Given the description of an element on the screen output the (x, y) to click on. 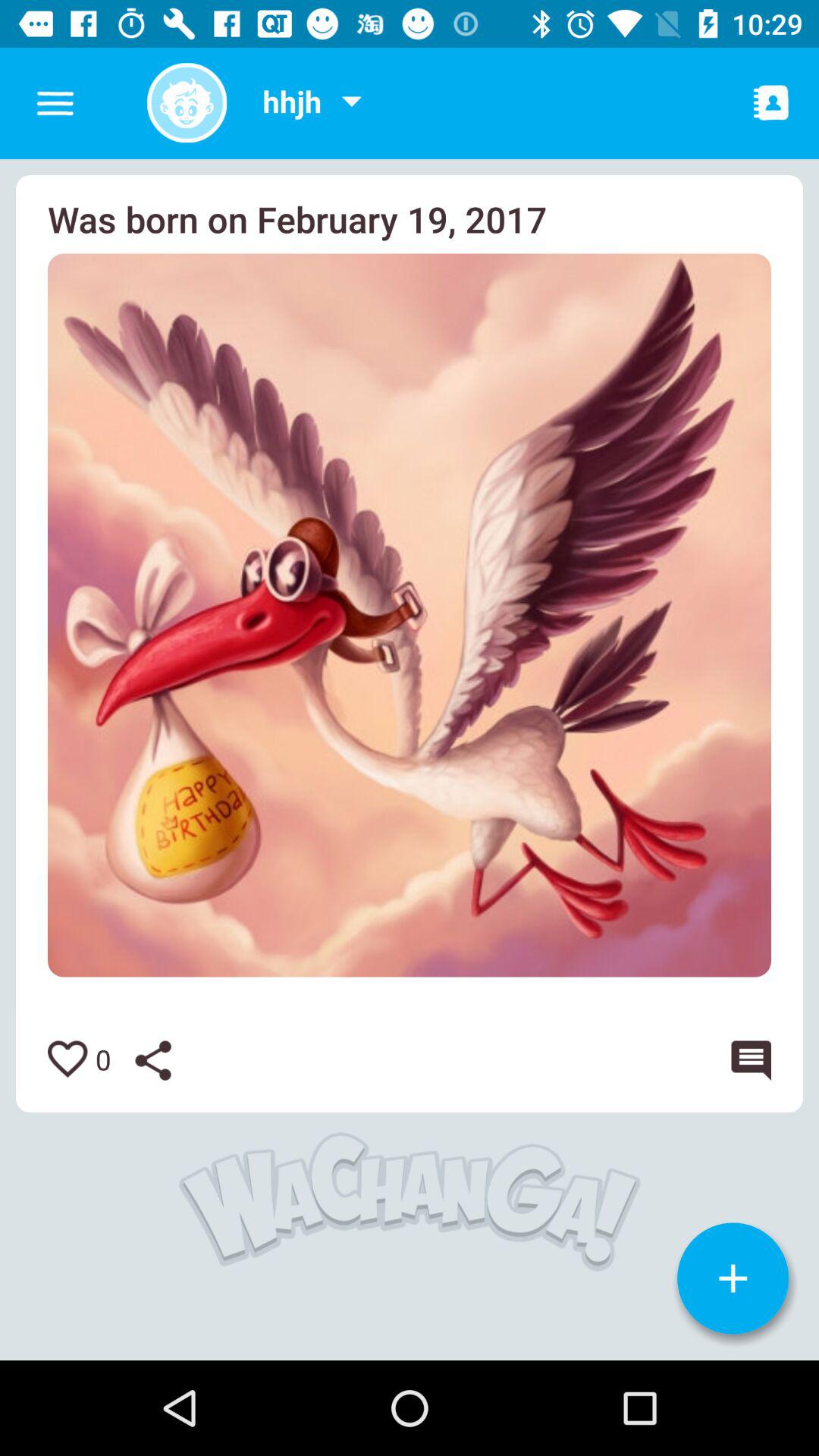
person (771, 102)
